Given the description of an element on the screen output the (x, y) to click on. 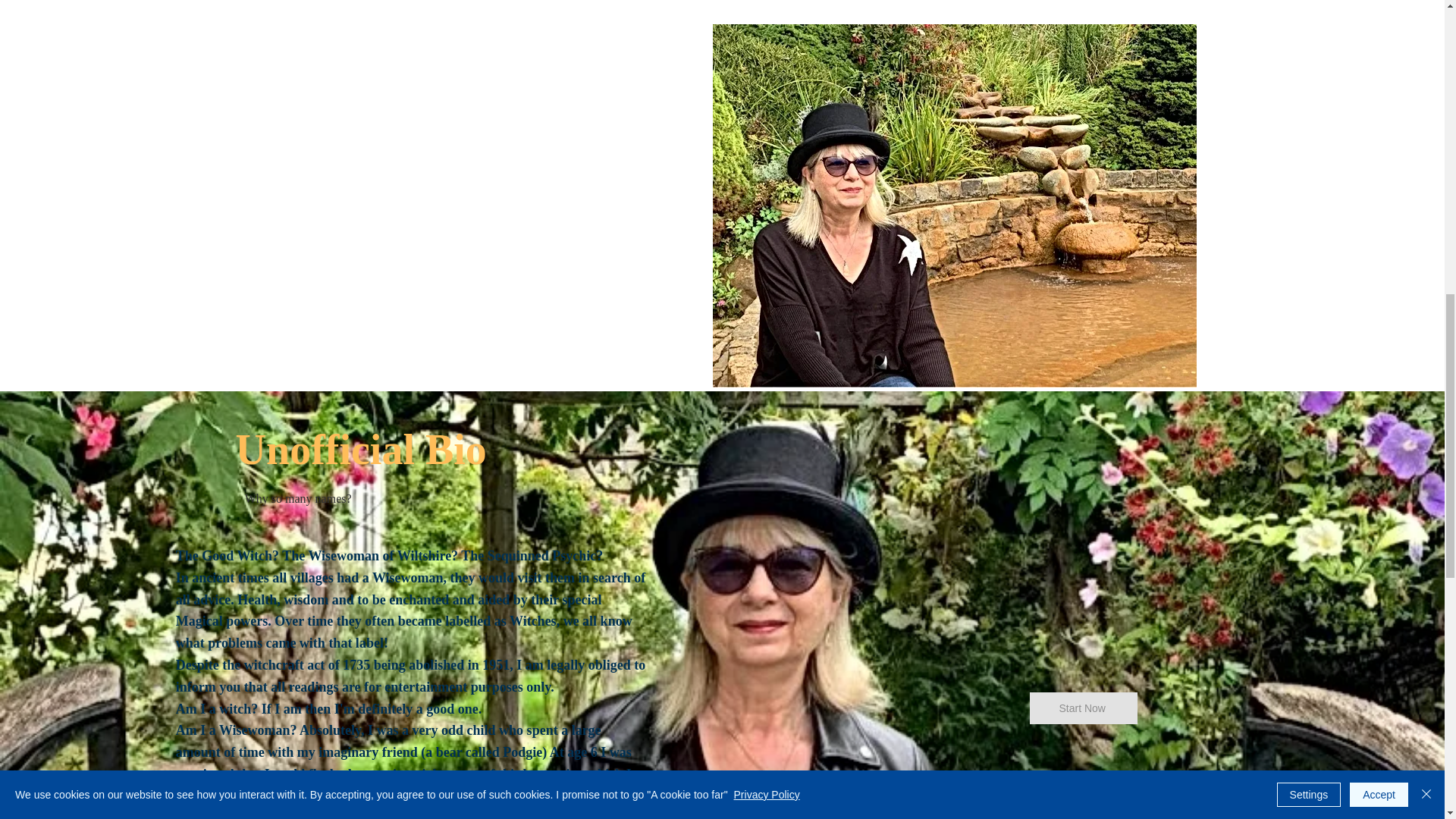
Start Now (1083, 707)
